Given the description of an element on the screen output the (x, y) to click on. 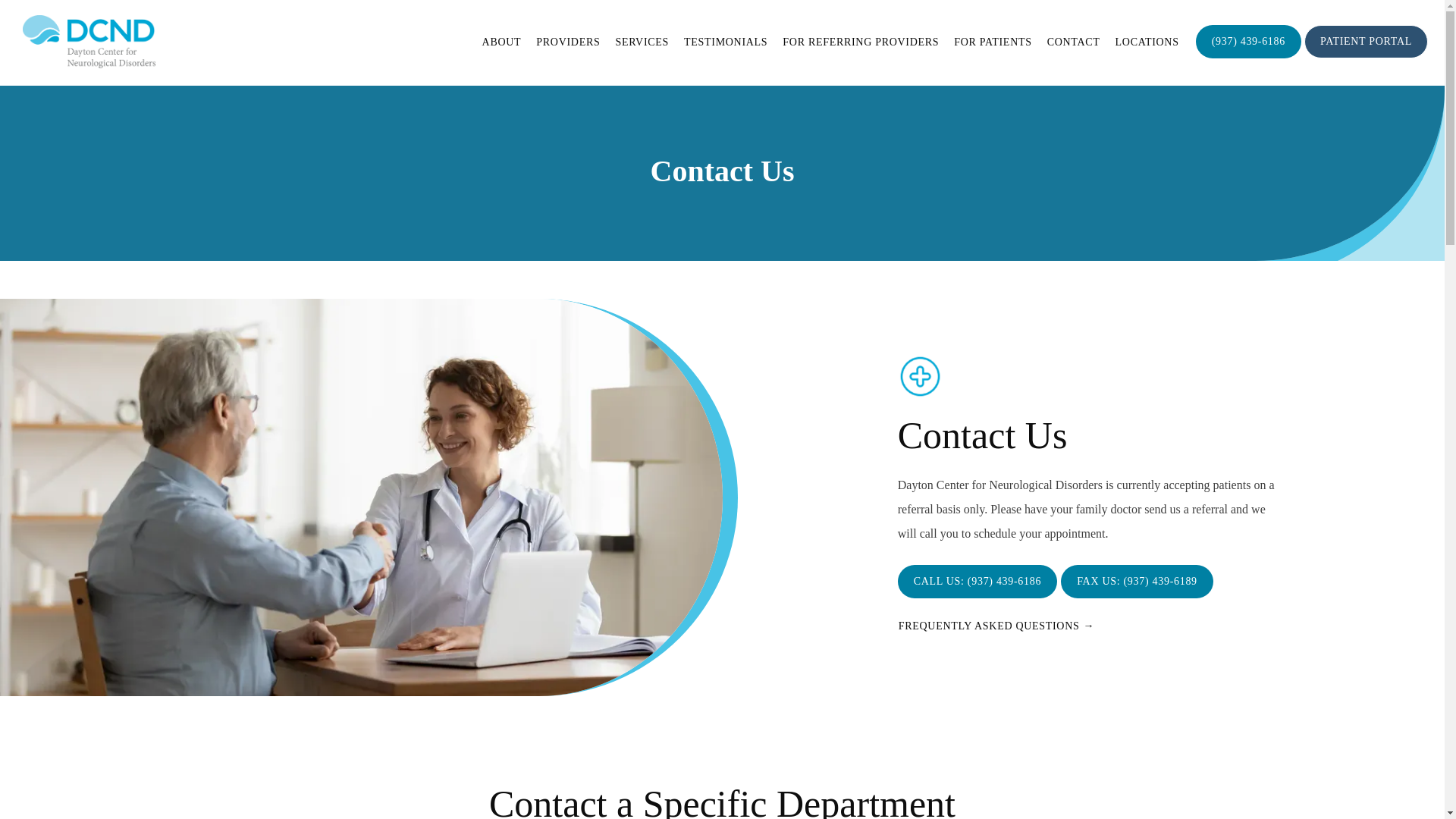
PROVIDERS (567, 41)
FOR REFERRING PROVIDERS (861, 41)
CONTACT (1073, 41)
PATIENT PORTAL (1366, 56)
LOCATIONS (1147, 41)
TESTIMONIALS (725, 41)
ABOUT (501, 41)
SERVICES (641, 41)
